Given the description of an element on the screen output the (x, y) to click on. 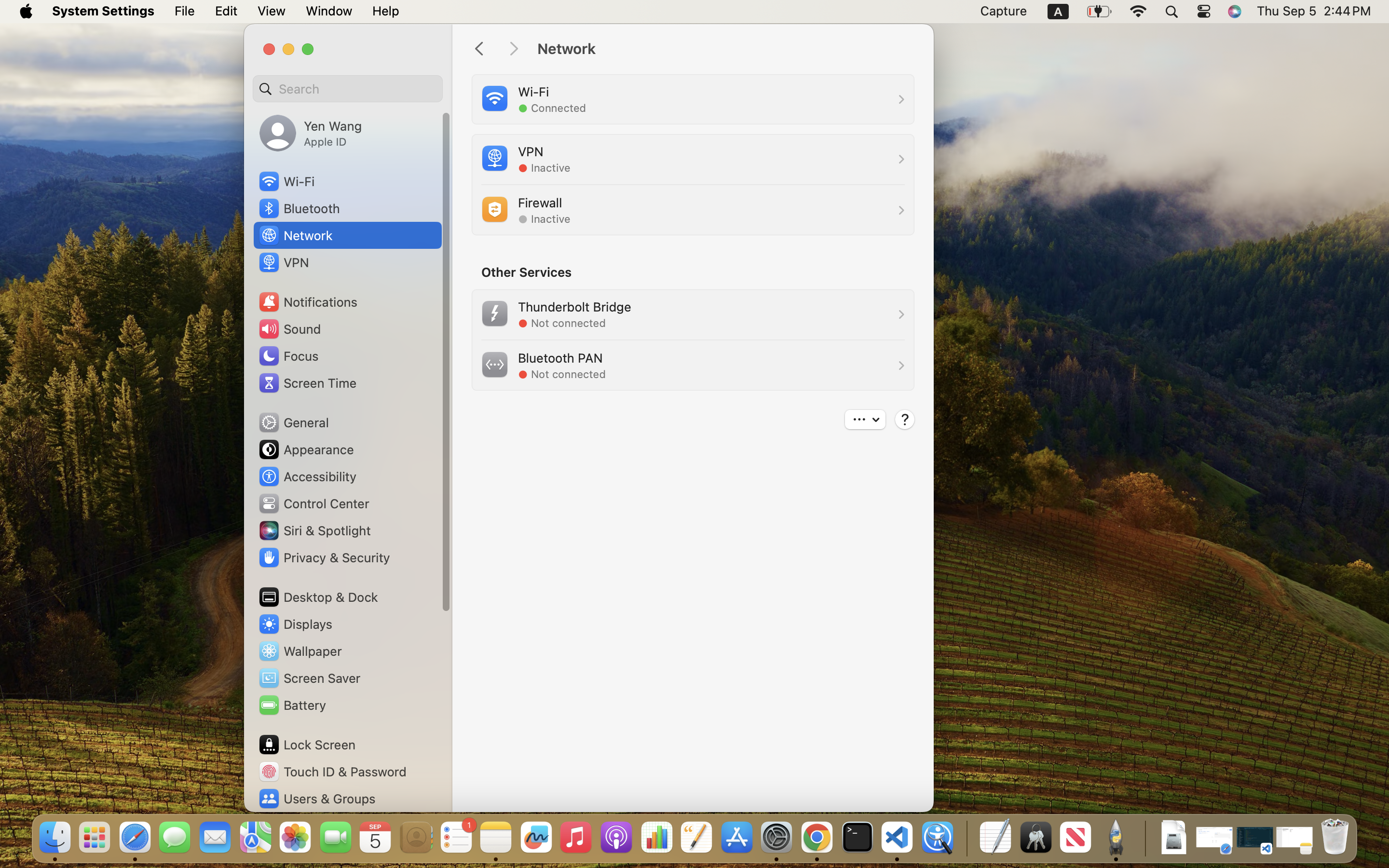
Network Element type: AXStaticText (725, 49)
Privacy & Security Element type: AXStaticText (323, 557)
Desktop & Dock Element type: AXStaticText (317, 596)
Control Center Element type: AXStaticText (313, 503)
Notifications Element type: AXStaticText (307, 301)
